Given the description of an element on the screen output the (x, y) to click on. 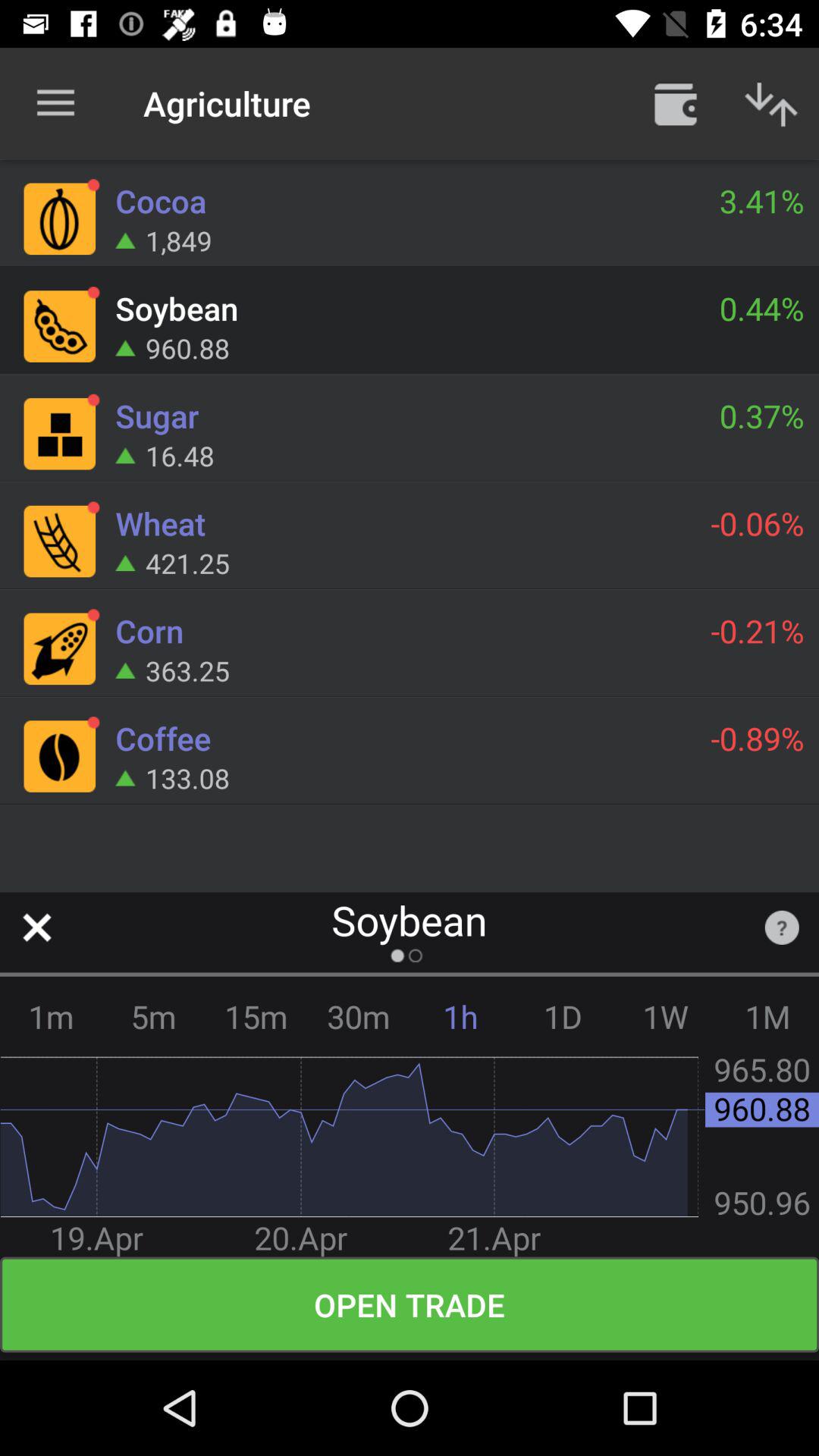
help button (781, 927)
